Given the description of an element on the screen output the (x, y) to click on. 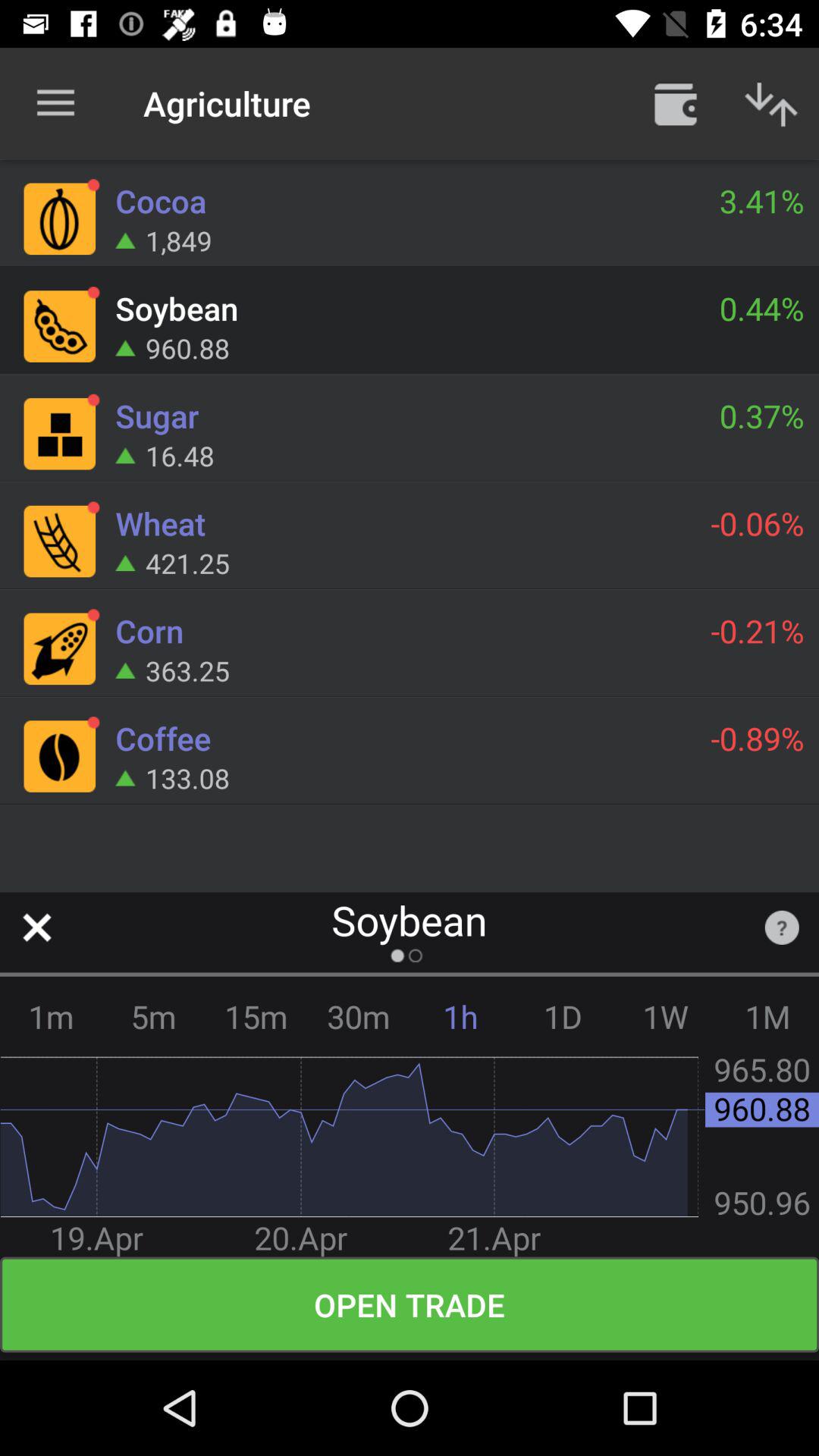
help button (781, 927)
